Given the description of an element on the screen output the (x, y) to click on. 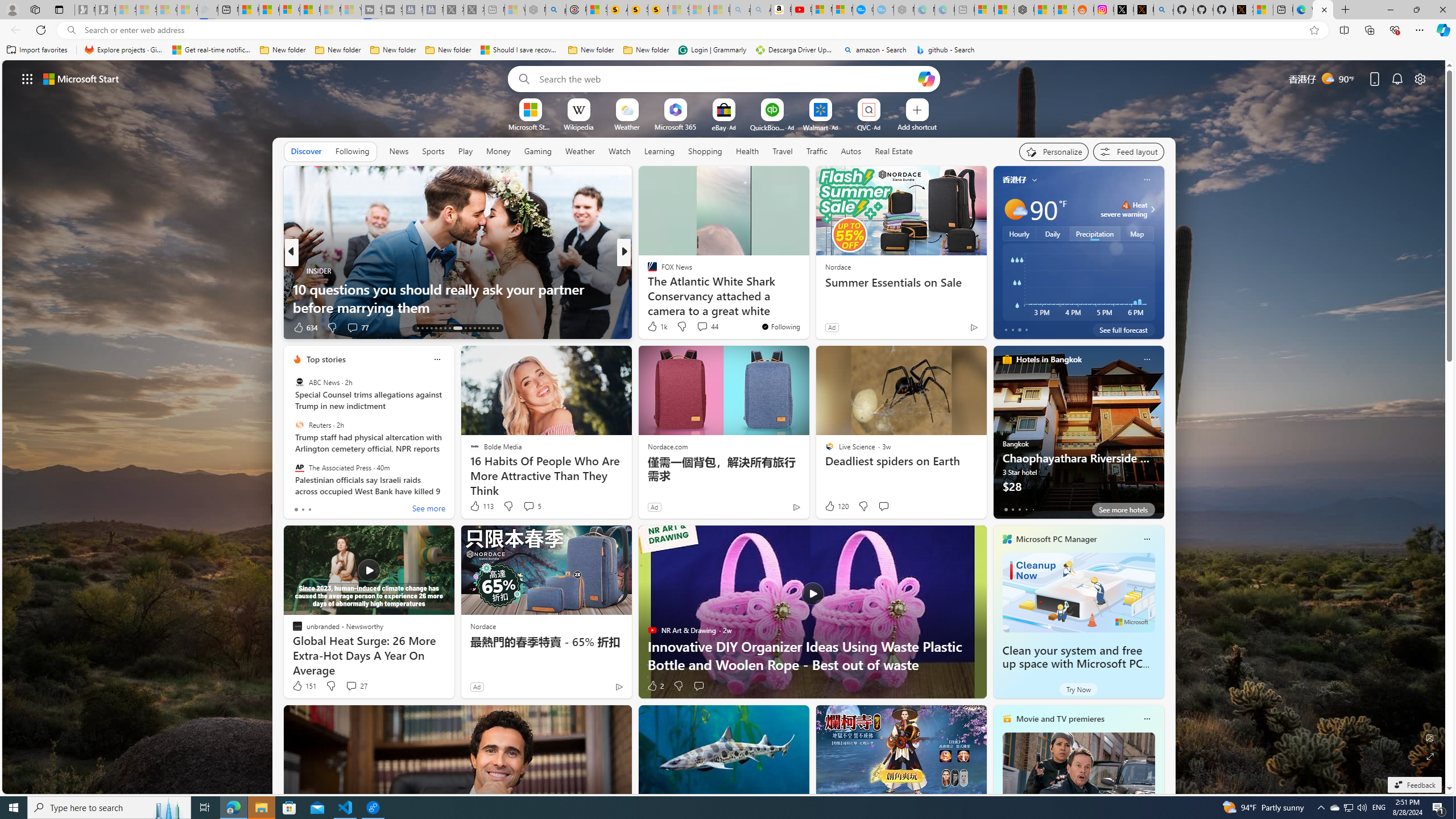
Should I save recovered Word documents? - Microsoft Support (519, 49)
Reuters (299, 424)
Hourly (1018, 233)
AutomationID: tab-18 (440, 328)
Real Estate (893, 151)
AutomationID: tab-17 (435, 328)
Feed settings (1128, 151)
AutomationID: tab-14 (422, 328)
Tribune News Service (647, 270)
View comments 77 Comment (352, 327)
